Given the description of an element on the screen output the (x, y) to click on. 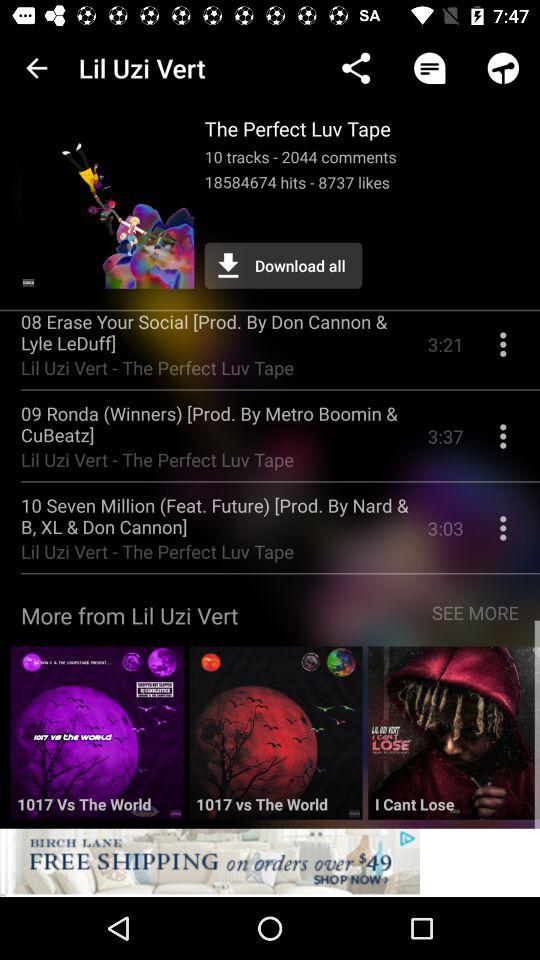
show video options (503, 351)
